Given the description of an element on the screen output the (x, y) to click on. 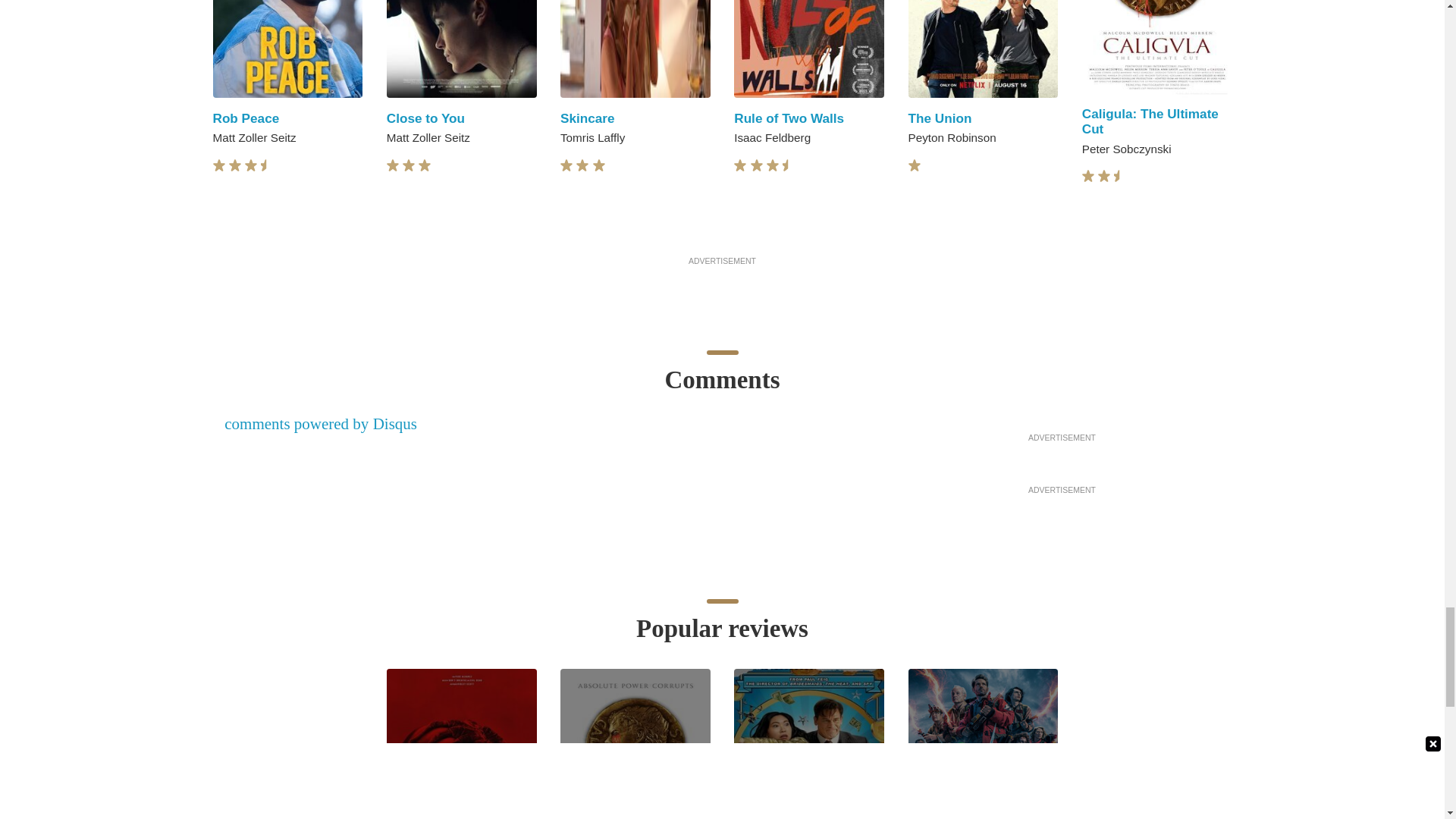
star-full (566, 164)
star-full (218, 164)
star-full (392, 164)
Rob Peace (245, 118)
star-full (424, 164)
star-full (234, 164)
Close to You (425, 118)
star-half (266, 164)
star-full (408, 164)
star-full (582, 164)
